Given the description of an element on the screen output the (x, y) to click on. 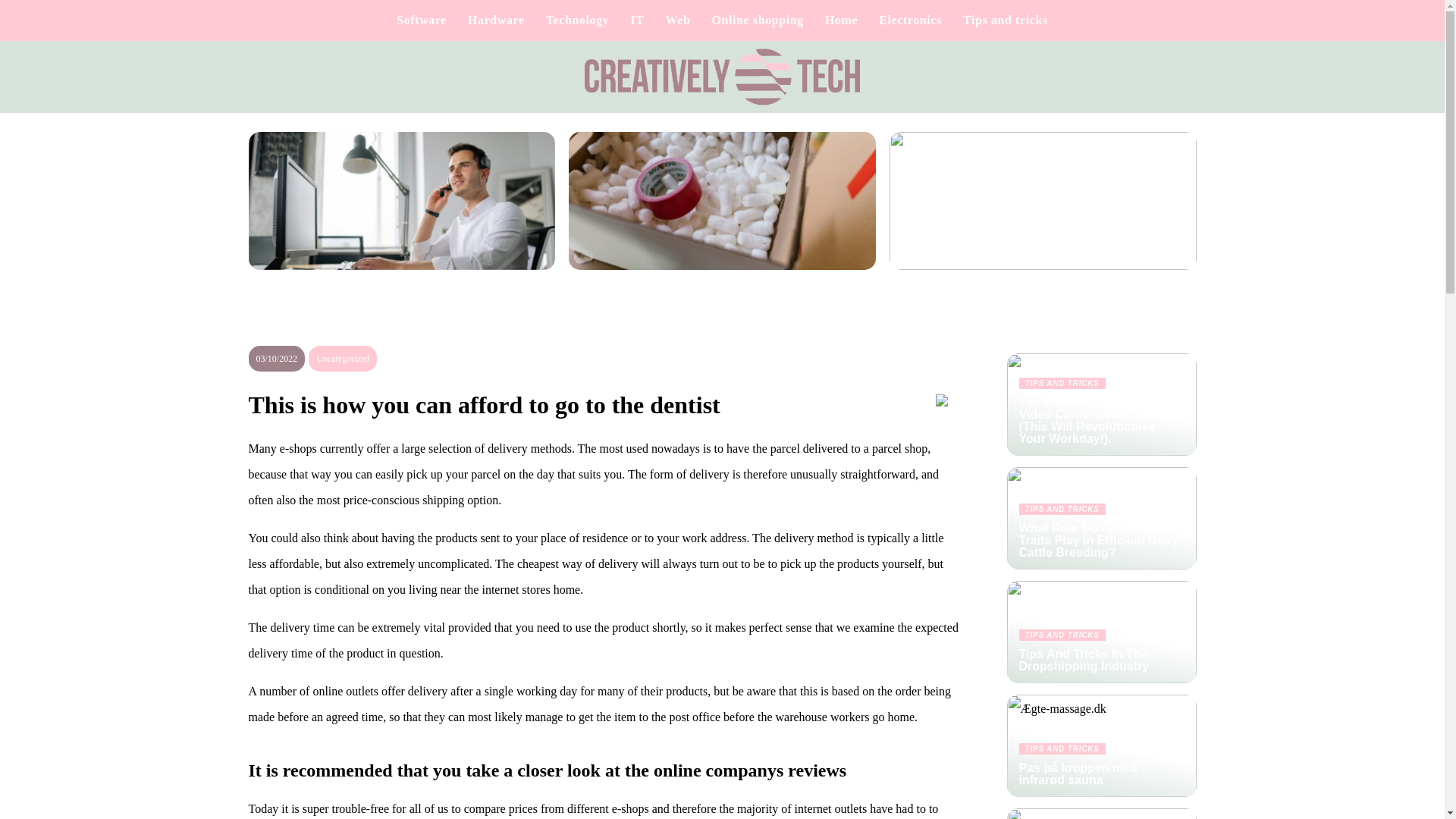
IT (636, 19)
Web (677, 19)
Technology (578, 19)
Online shopping (757, 19)
Hardware (495, 19)
Software (421, 19)
Home (841, 19)
4 smart gadgets for the office (1042, 211)
